Given the description of an element on the screen output the (x, y) to click on. 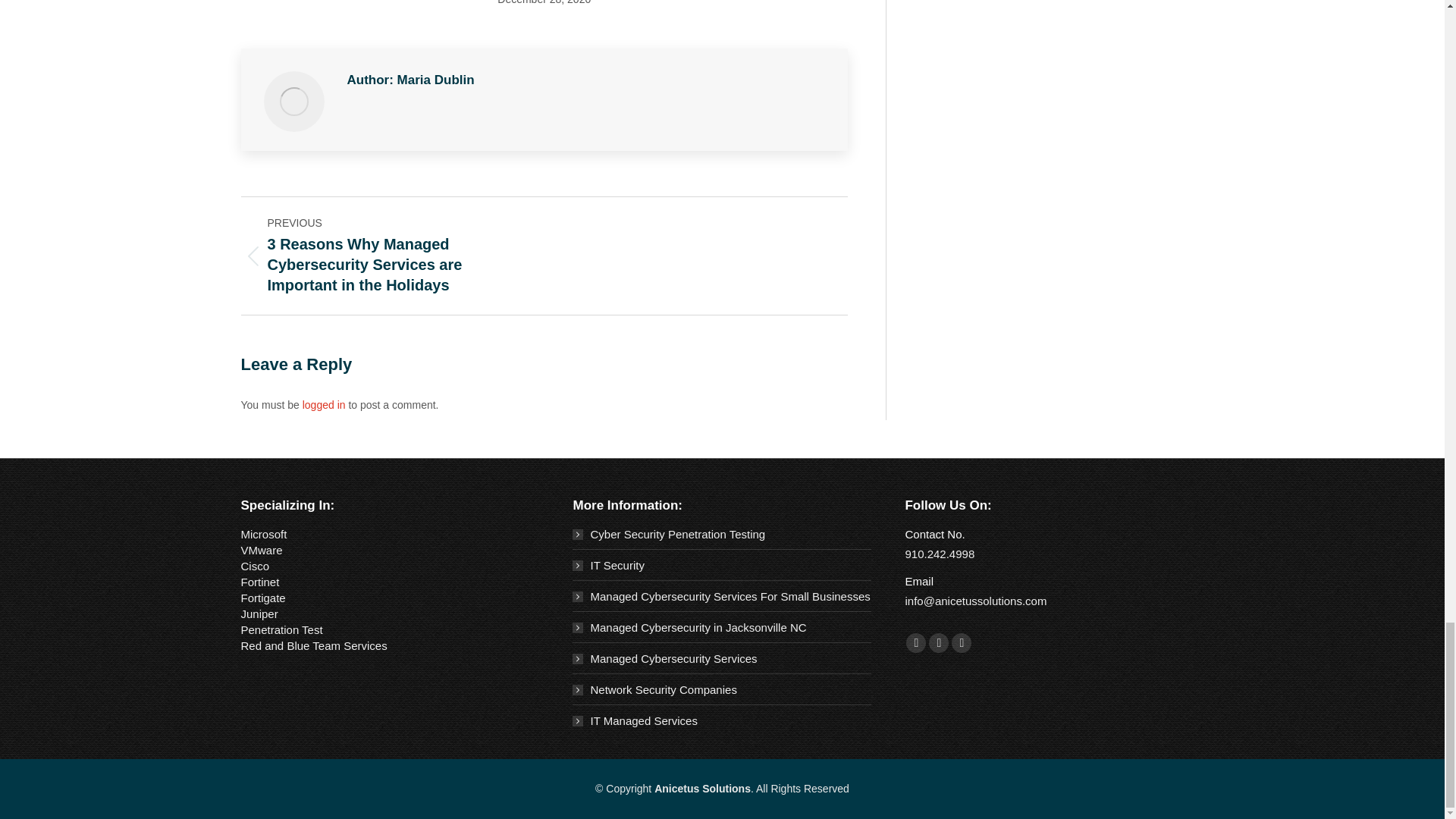
3:45 pm (544, 3)
